Given the description of an element on the screen output the (x, y) to click on. 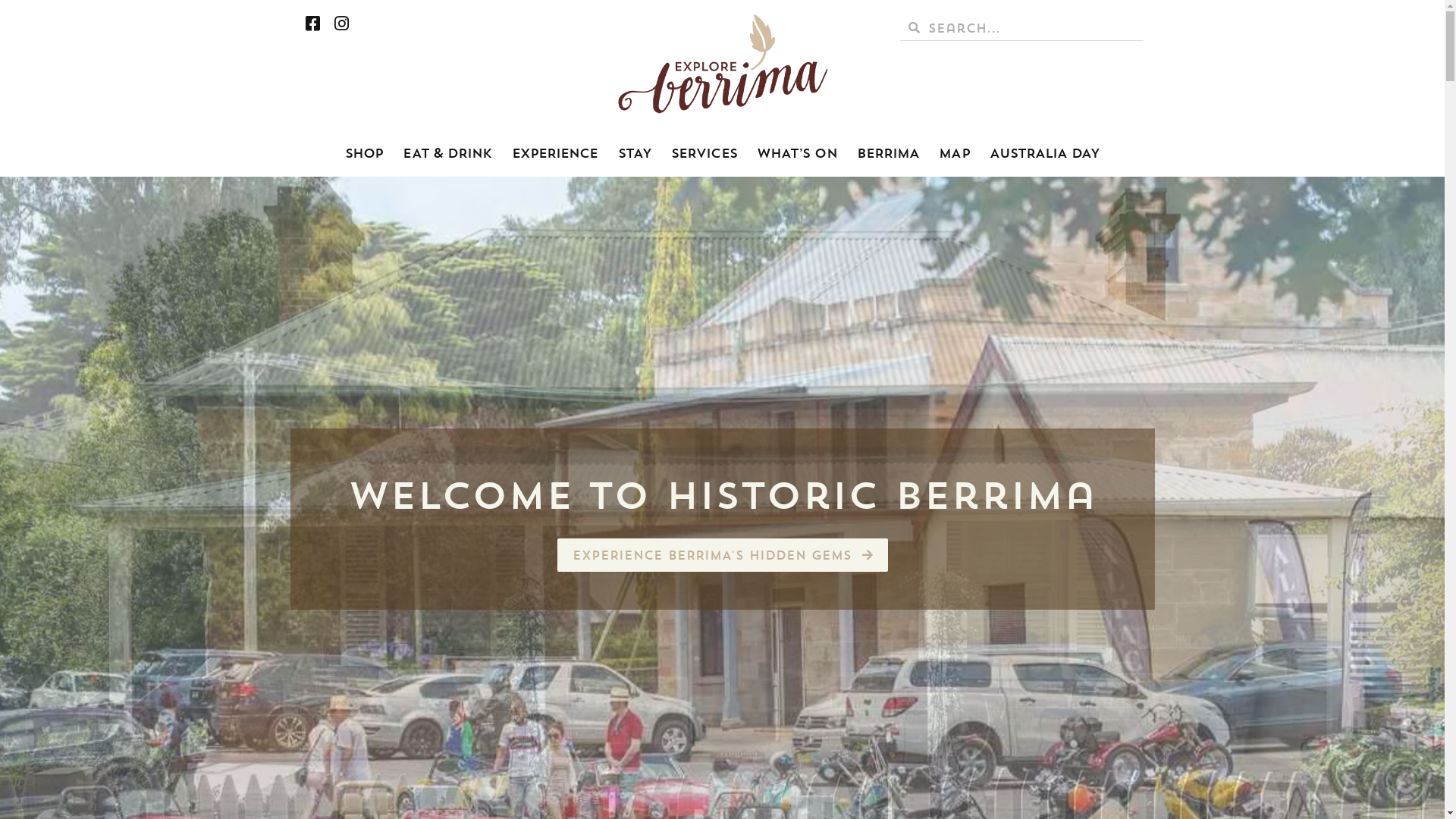
SHOP Element type: text (363, 153)
EAT & DRINK Element type: text (446, 153)
MAP Element type: text (953, 153)
EXPERIENCE BERRIMA'S HIDDEN GEMS Element type: text (721, 554)
AUSTRALIA DAY Element type: text (1044, 153)
BERRIMA Element type: text (888, 153)
SERVICES Element type: text (703, 153)
STAY Element type: text (634, 153)
EXPERIENCE Element type: text (555, 153)
